Given the description of an element on the screen output the (x, y) to click on. 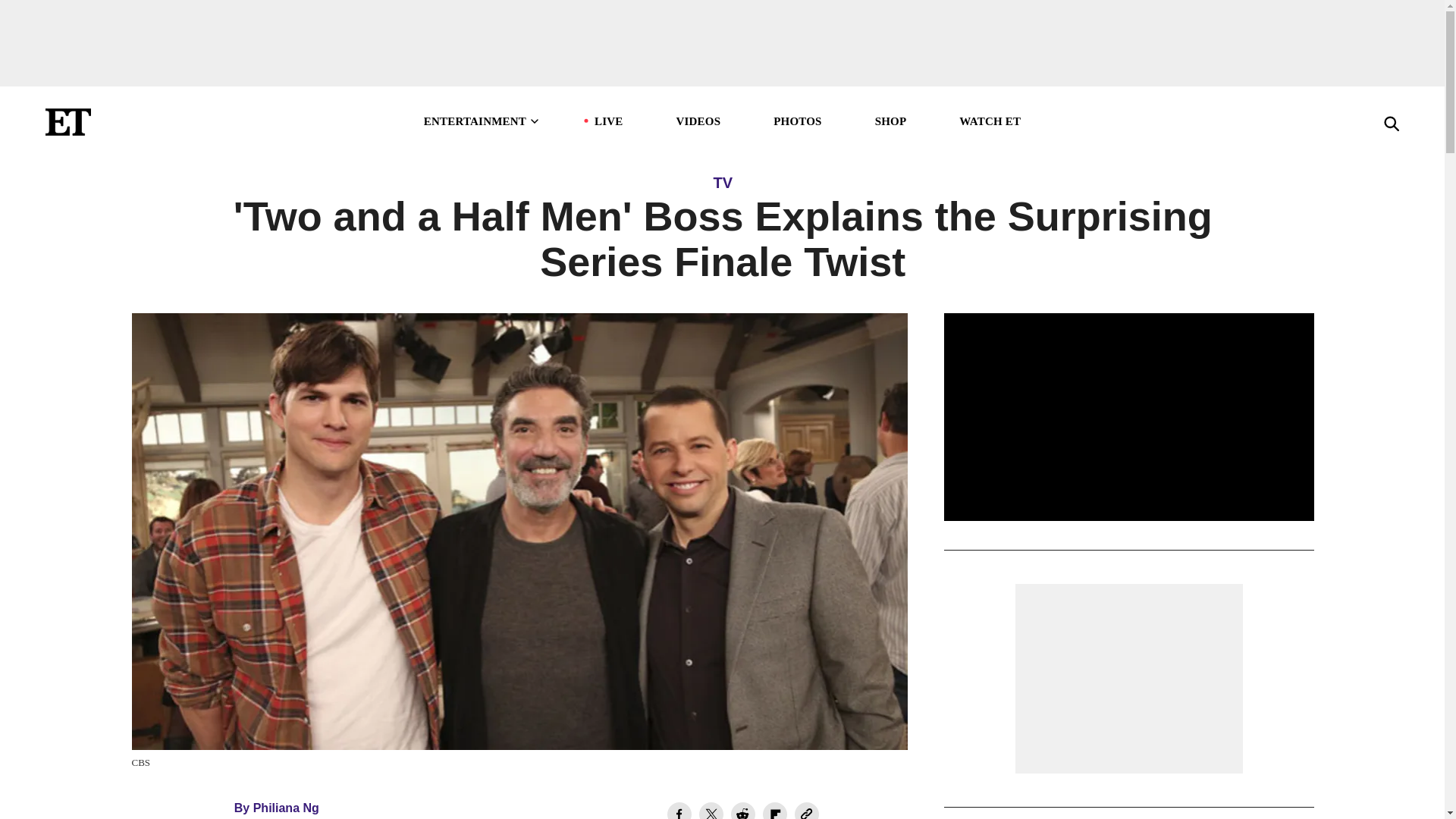
SHOP (891, 120)
TV (722, 182)
LIVE (608, 120)
VIDEOS (697, 120)
ENTERTAINMENT (482, 120)
PHOTOS (797, 120)
WATCH ET (989, 120)
